Given the description of an element on the screen output the (x, y) to click on. 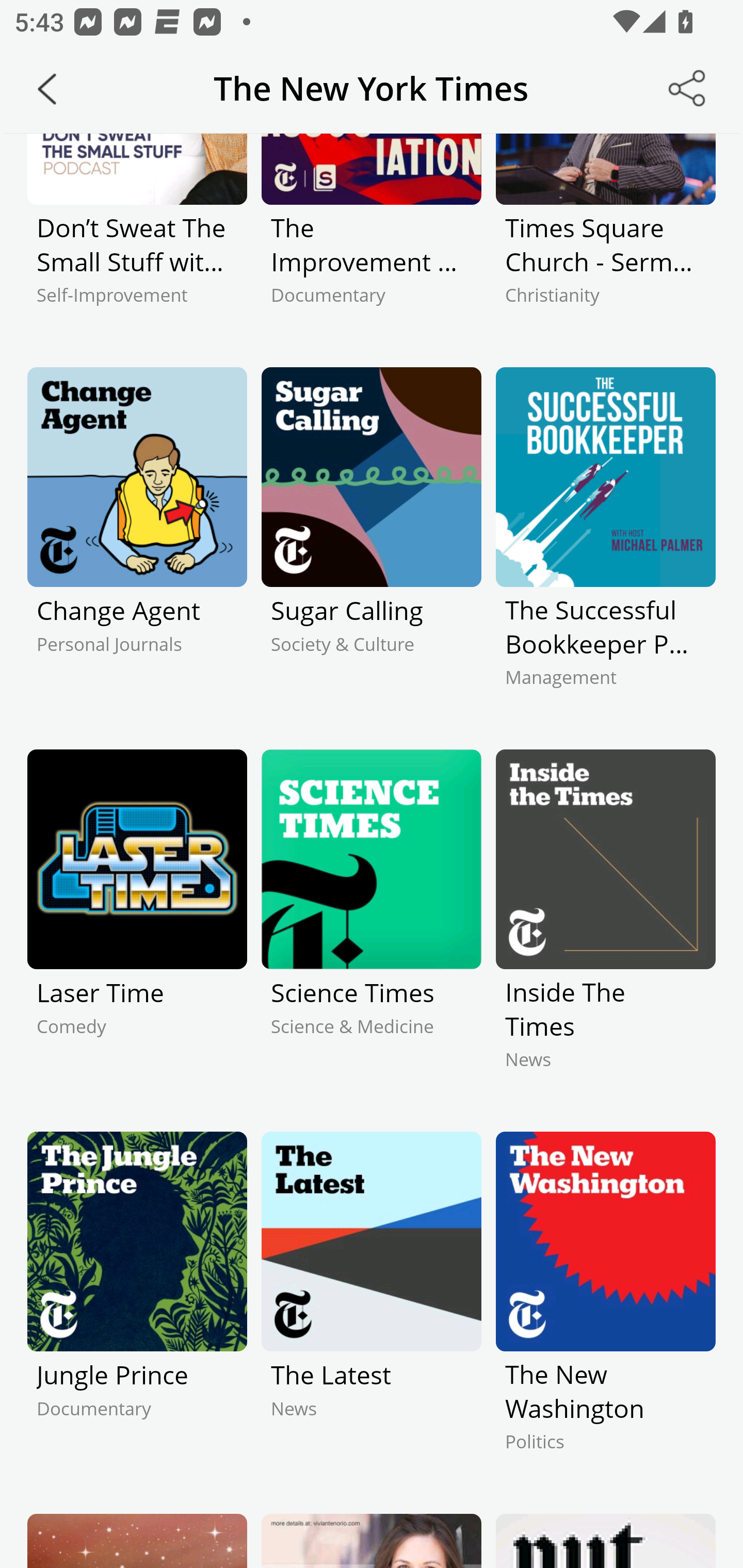
Back (46, 88)
The Improvement Association Documentary (371, 236)
Times Square Church - Sermons Christianity (605, 236)
Change Agent Personal Journals (137, 544)
Sugar Calling Society & Culture (371, 544)
The Successful Bookkeeper Podcast Management (605, 544)
Laser Time Comedy (137, 927)
Science Times Science & Medicine (371, 927)
Inside The Times News (605, 927)
Jungle Prince Documentary (137, 1309)
The Latest News (371, 1309)
The New Washington Politics (605, 1309)
